Given the description of an element on the screen output the (x, y) to click on. 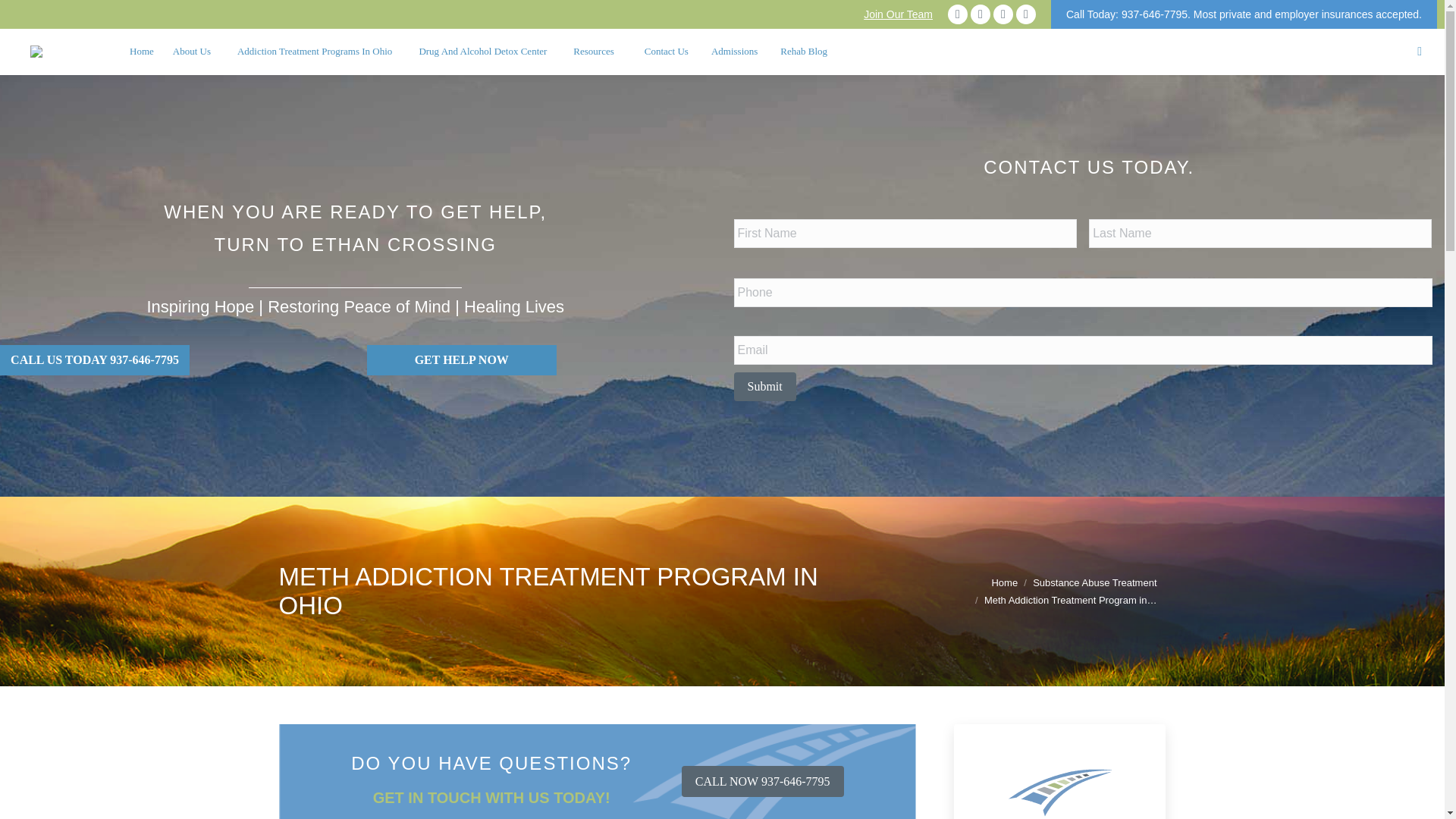
Twitter page opens in new window (980, 14)
Instagram page opens in new window (1025, 14)
Join Our Team (898, 14)
Home (141, 51)
Contact Us (461, 359)
Instagram page opens in new window (1025, 14)
Facebook page opens in new window (957, 14)
Submit (764, 386)
Linkedin page opens in new window (1002, 14)
